Given the description of an element on the screen output the (x, y) to click on. 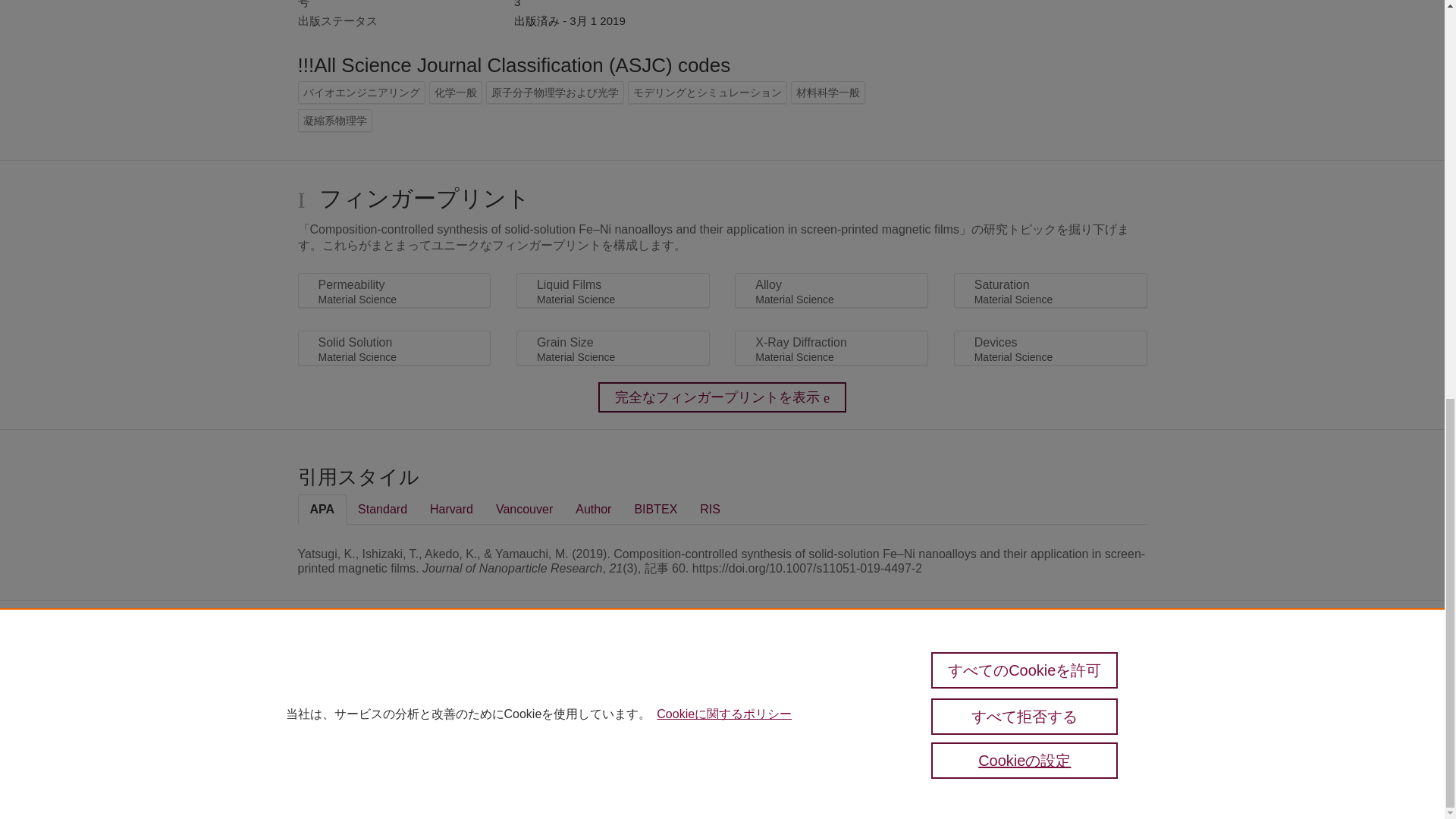
Elsevier B.V. (545, 699)
Pure (330, 676)
Scopus (362, 676)
